Given the description of an element on the screen output the (x, y) to click on. 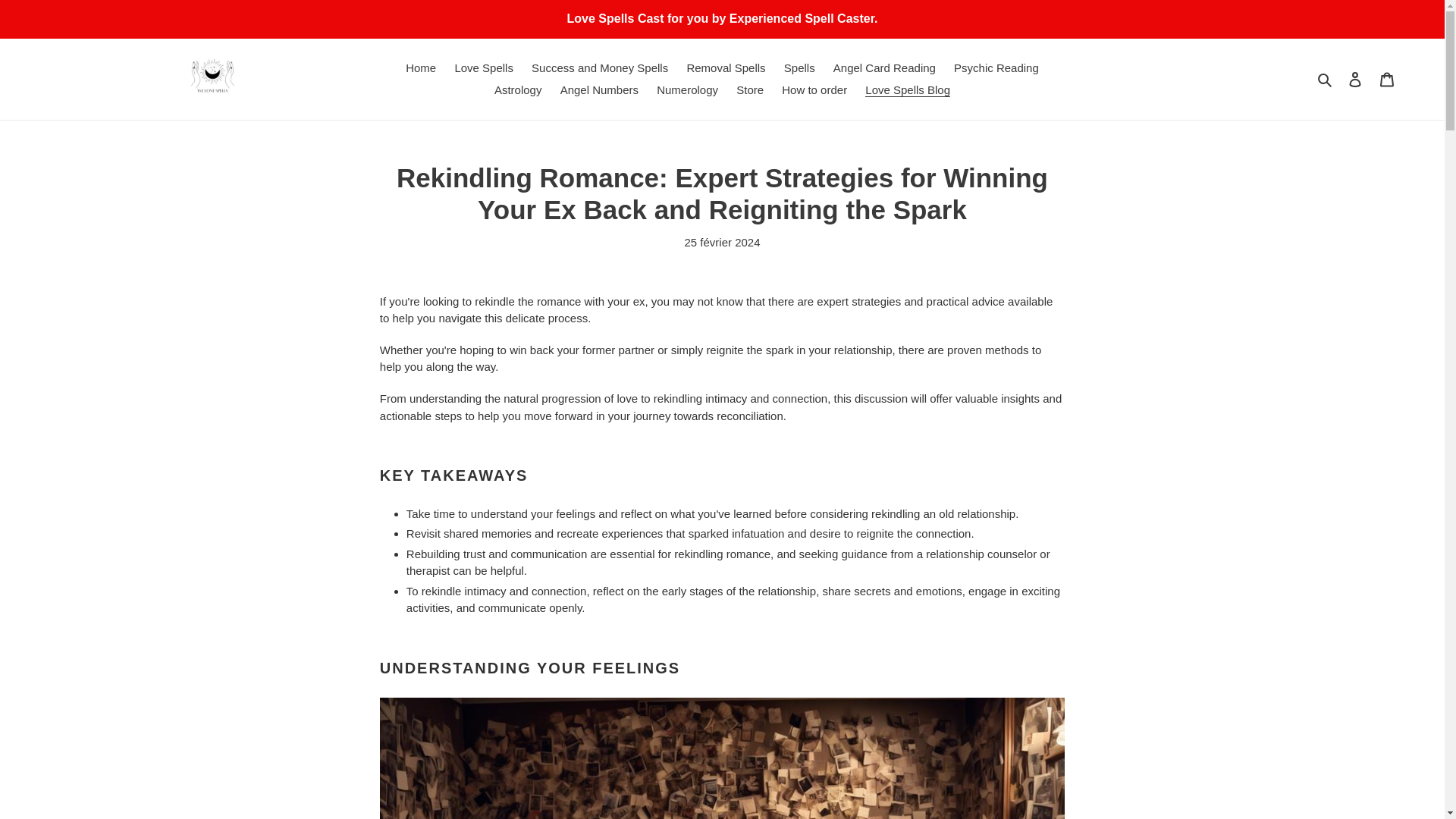
Angel Numbers (599, 89)
Love Spells Blog (907, 89)
Removal Spells (725, 68)
Se connecter (1355, 79)
Love Spells Cast for you by Experienced Spell Caster. (721, 18)
Rechercher (1326, 78)
Home (420, 68)
How to order (814, 89)
Spells (799, 68)
Love Spells (483, 68)
Psychic Reading (996, 68)
Numerology (687, 89)
Success and Money Spells (599, 68)
Store (750, 89)
Astrology (518, 89)
